Given the description of an element on the screen output the (x, y) to click on. 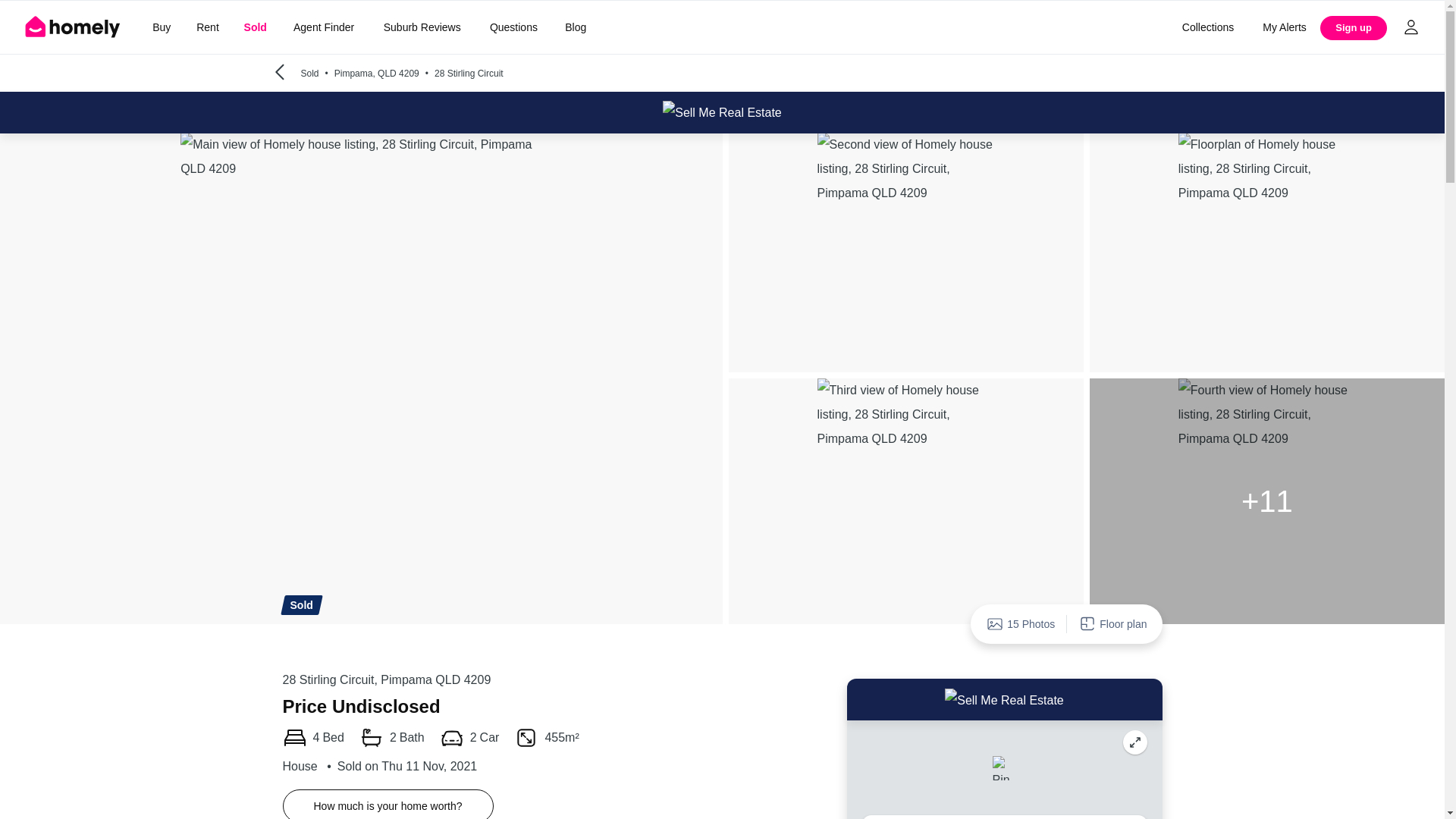
Blog (575, 27)
Rent (207, 27)
Floor plan (1112, 624)
Suburb Reviews (422, 27)
How much is your home worth? (387, 804)
Questions (513, 27)
Collections (1207, 27)
Collections (1207, 27)
My Alerts (1284, 27)
Sold (255, 27)
Suburb Reviews (422, 27)
Rent (207, 27)
Sold (255, 27)
Agent Finder (323, 27)
Questions (513, 27)
